Given the description of an element on the screen output the (x, y) to click on. 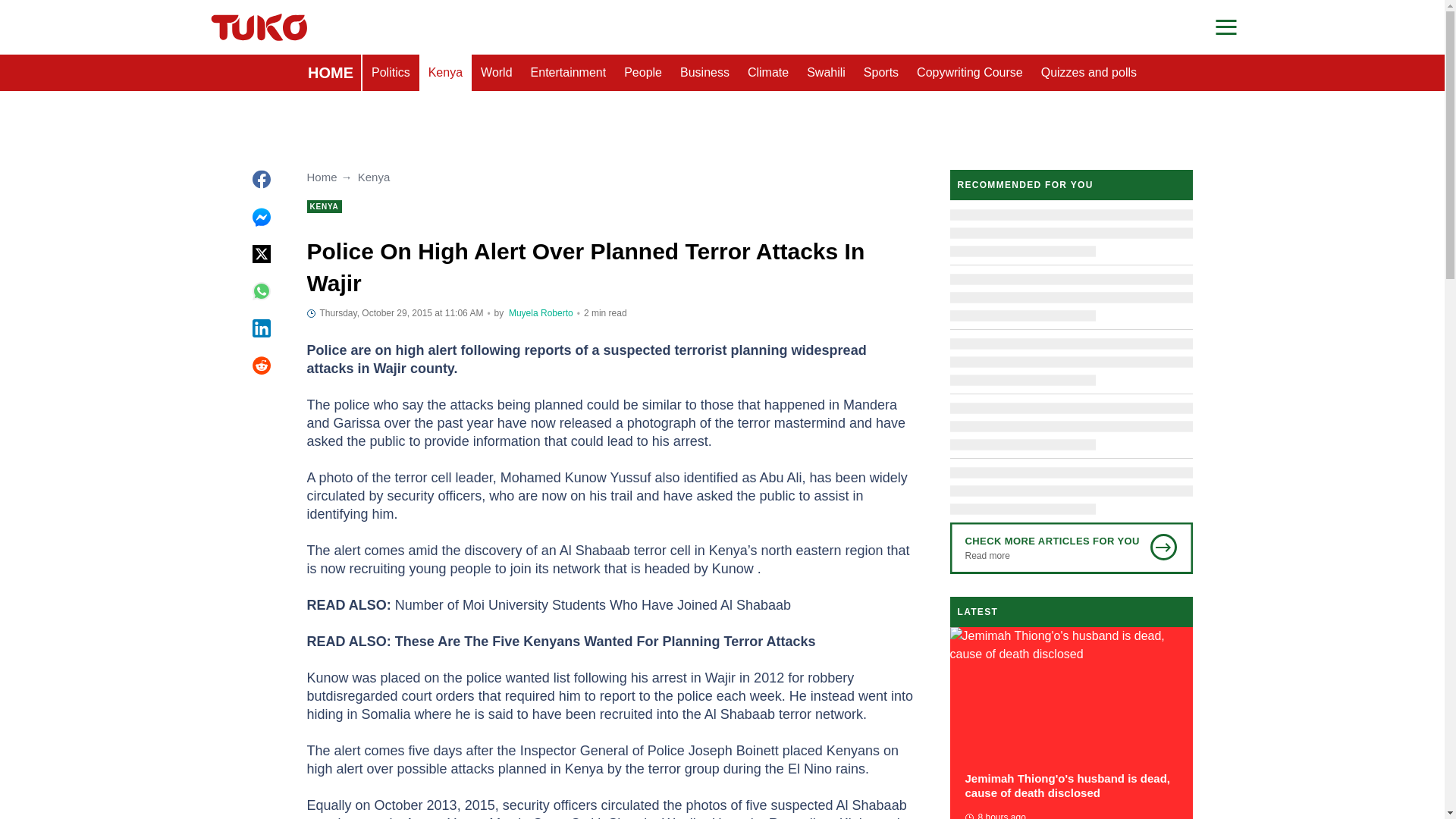
Politics (390, 72)
World (496, 72)
Author page (540, 312)
People (642, 72)
Quizzes and polls (1088, 72)
Business (704, 72)
Sports (880, 72)
Climate (767, 72)
Swahili (825, 72)
Copywriting Course (969, 72)
HOME (330, 72)
Entertainment (568, 72)
Kenya (445, 72)
